Given the description of an element on the screen output the (x, y) to click on. 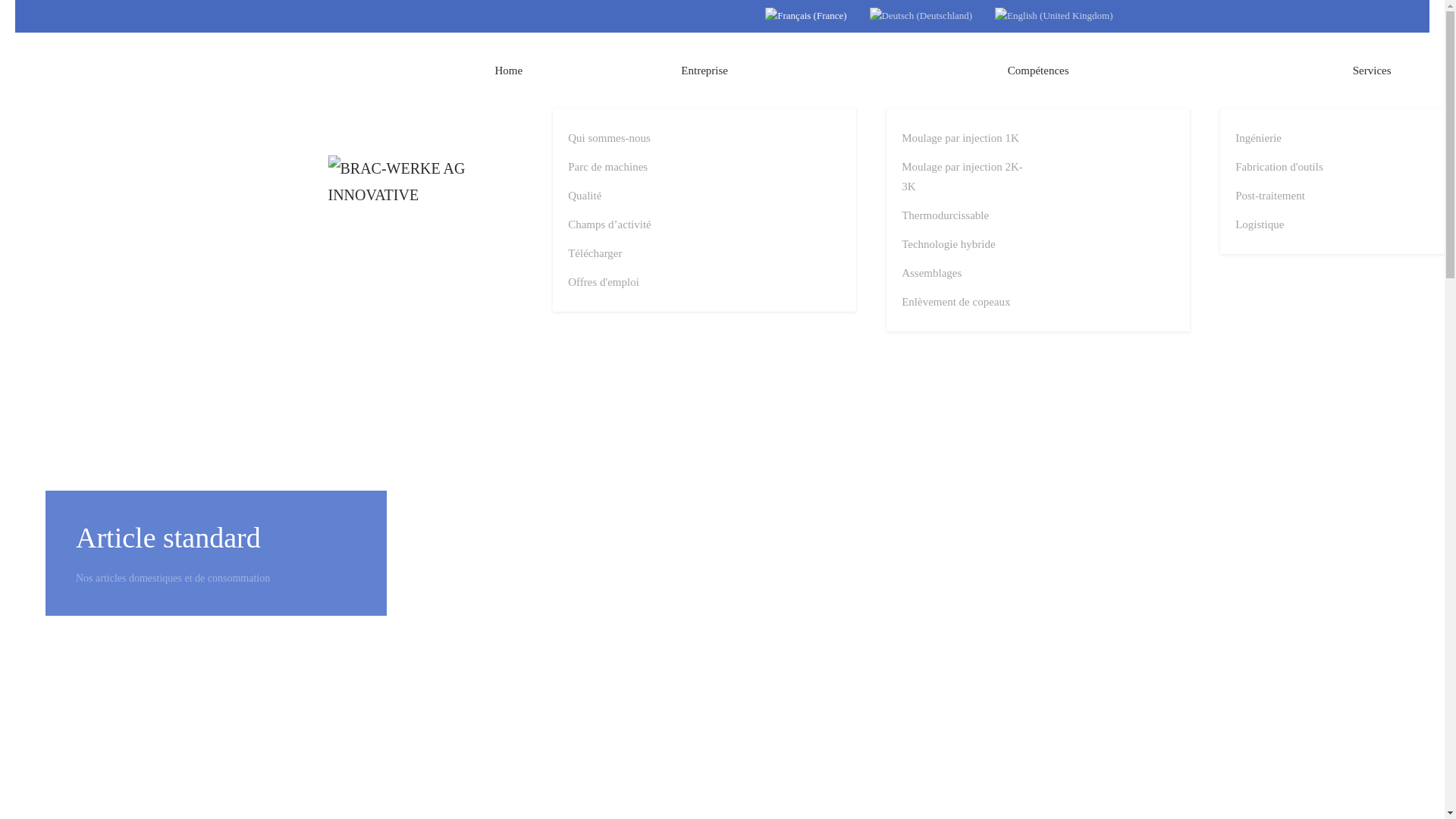
Assemblages Element type: text (965, 272)
Thermodurcissable Element type: text (965, 214)
English (United Kingdom) Element type: hover (1053, 16)
Parc de machines Element type: text (631, 166)
Technologie hybride Element type: text (965, 243)
Moulage par injection 1K Element type: text (965, 137)
Logistique Element type: text (1299, 224)
Fabrication d'outils Element type: text (1299, 166)
Entreprise Element type: text (704, 70)
Offres d'emploi Element type: text (631, 281)
Home Element type: text (508, 70)
Post-traitement Element type: text (1299, 195)
Moulage par injection 2K-3K Element type: text (965, 176)
Qui sommes-nous Element type: text (631, 137)
Deutsch (Deutschland) Element type: hover (920, 16)
